Given the description of an element on the screen output the (x, y) to click on. 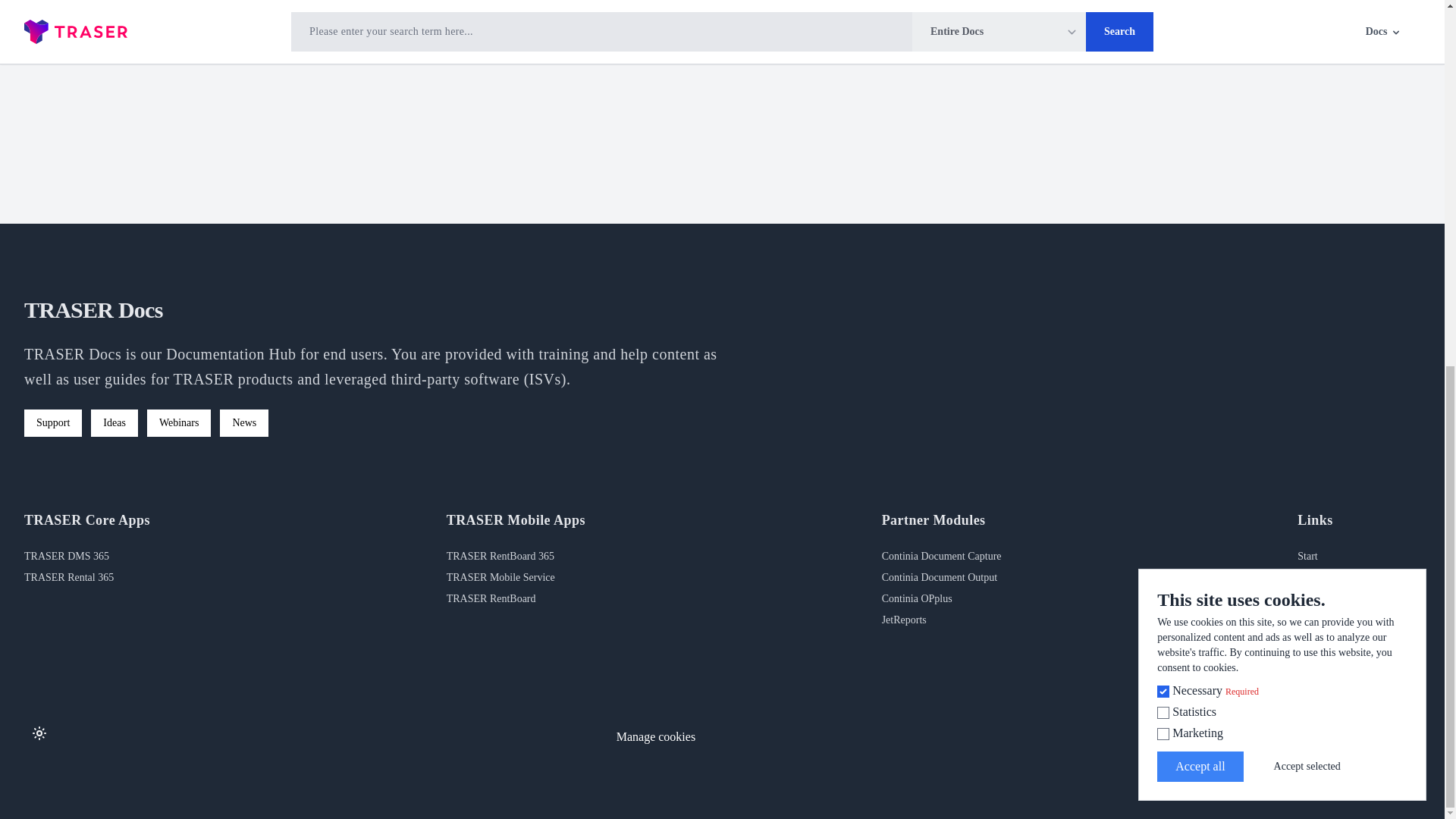
TRASER Mobile Service (500, 577)
Manage cookies (655, 737)
TRASER Mobile Service (500, 577)
News (243, 422)
Legal Notice (1324, 577)
Continia OPplus (917, 598)
Ideas (114, 422)
Continia Document Capture (941, 555)
Continia Document Capture (941, 555)
Legal Notice (1324, 577)
